Given the description of an element on the screen output the (x, y) to click on. 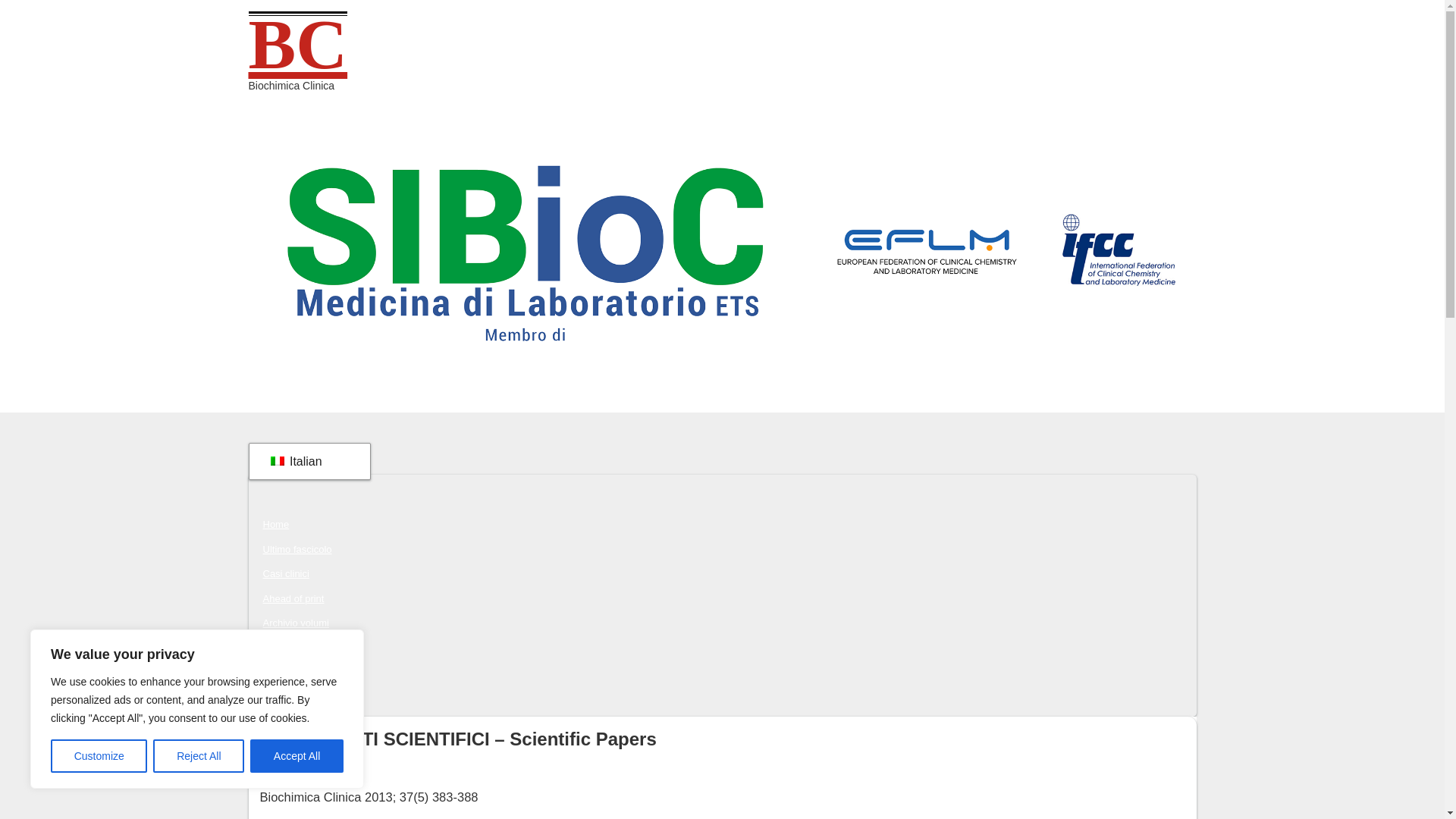
Archivio volumi (295, 622)
Ahead of print (293, 598)
Norme Autori (291, 671)
Cerca (275, 696)
Italian (276, 461)
Accept All (296, 756)
Reject All (198, 756)
Customize (98, 756)
BC (297, 43)
Italian (307, 461)
